Given the description of an element on the screen output the (x, y) to click on. 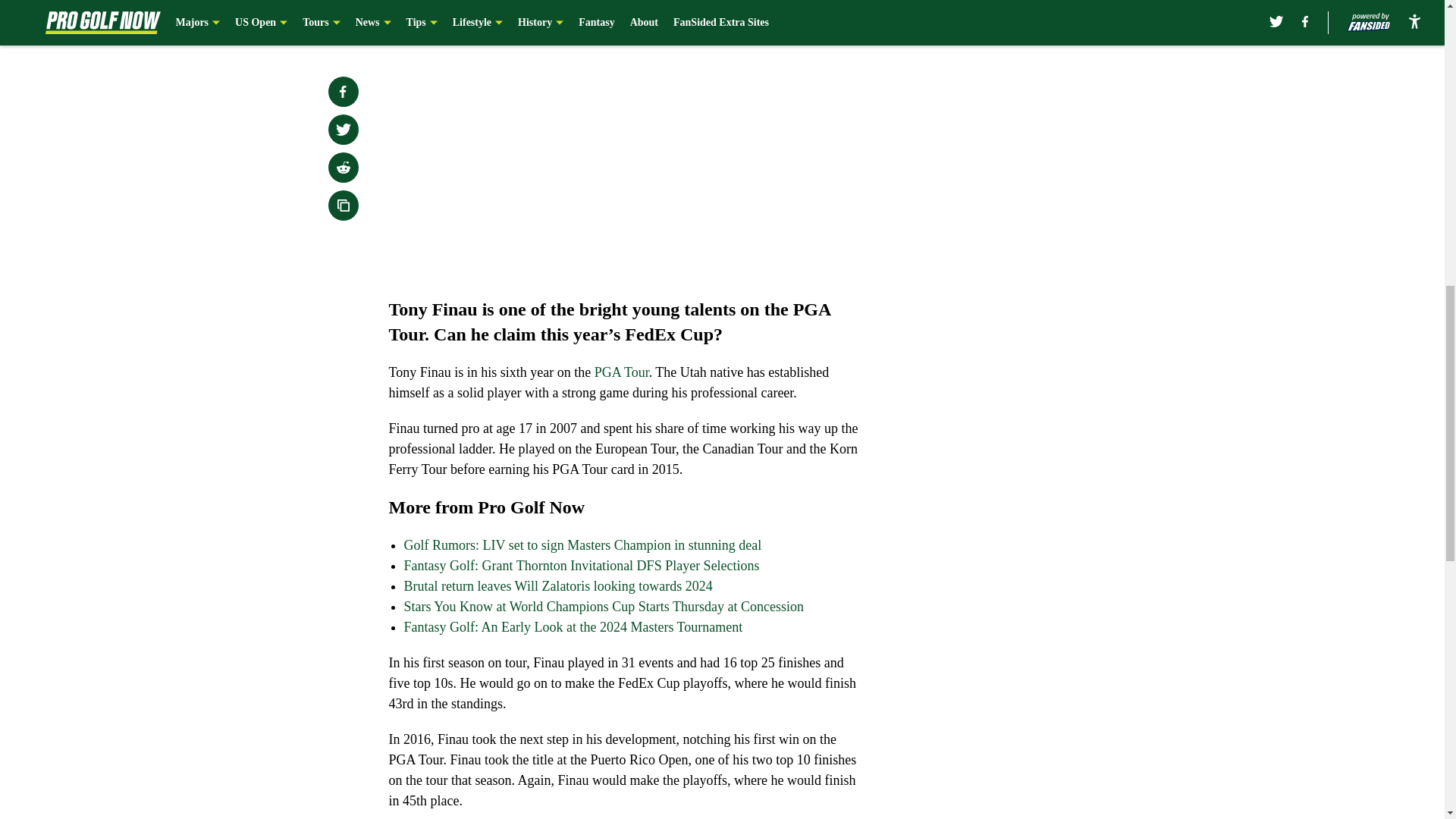
PGA Tour (621, 372)
